Given the description of an element on the screen output the (x, y) to click on. 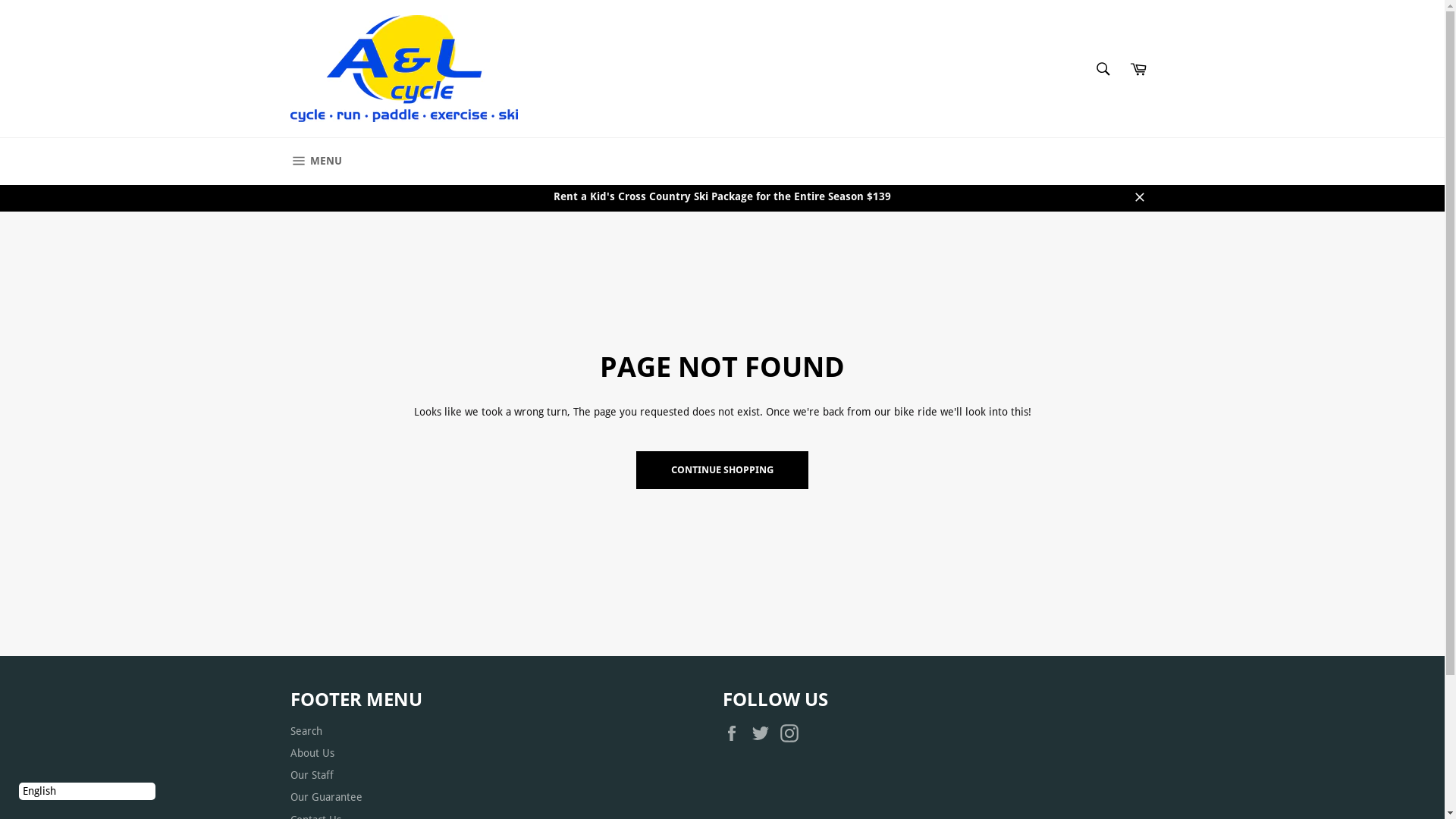
Search Element type: text (1103, 68)
Cart Element type: text (1138, 68)
Our Staff Element type: text (310, 774)
Instagram Element type: text (792, 733)
MENU
SITE NAVIGATION Element type: text (315, 161)
Our Guarantee Element type: text (325, 796)
Close Element type: text (1138, 196)
Facebook Element type: text (734, 733)
Search Element type: text (305, 730)
Twitter Element type: text (763, 733)
CONTINUE SHOPPING Element type: text (722, 470)
About Us Element type: text (311, 752)
